Given the description of an element on the screen output the (x, y) to click on. 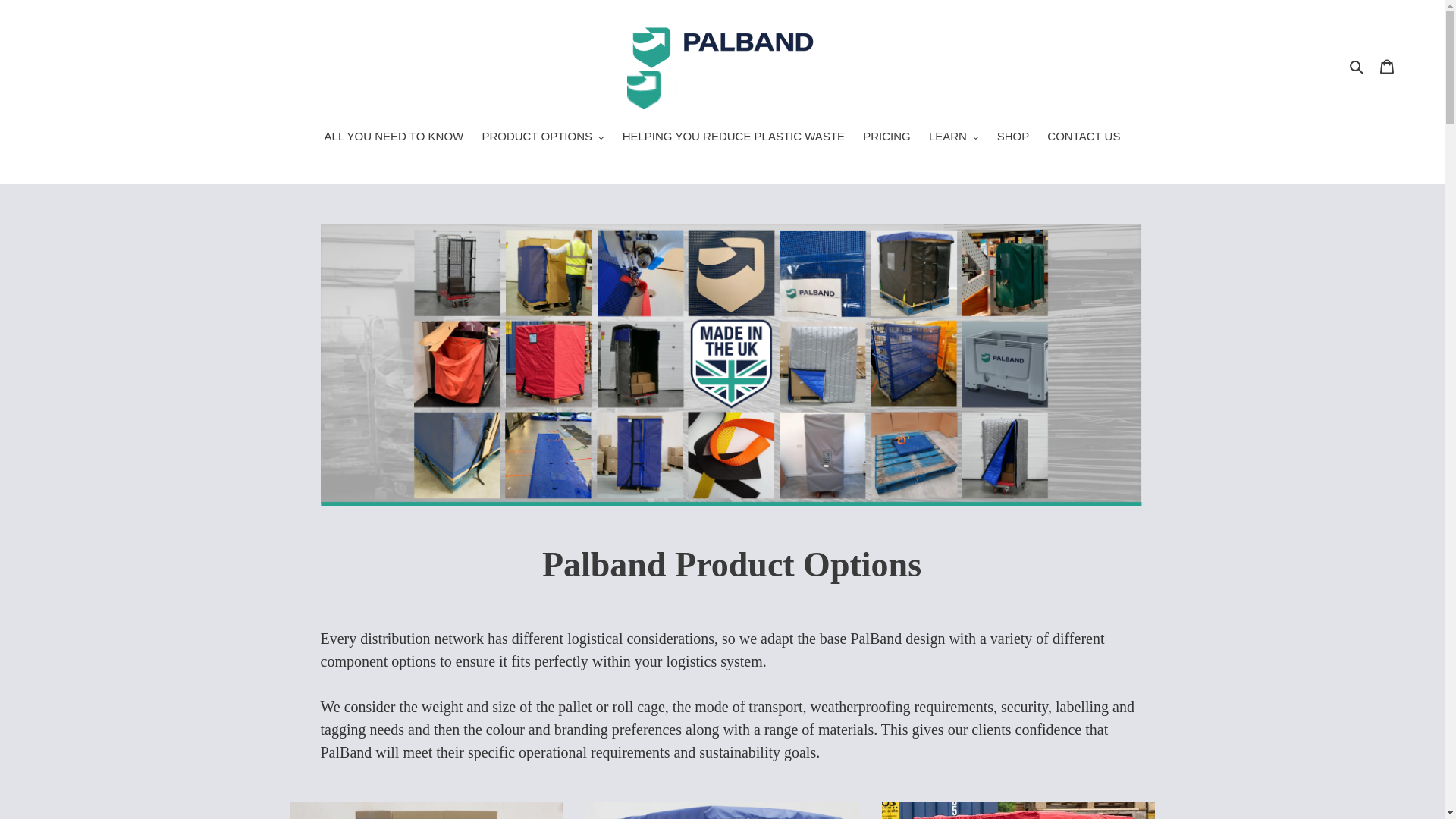
Search (1357, 66)
Cart (1387, 65)
HELPING YOU REDUCE PLASTIC WASTE (732, 137)
PRODUCT OPTIONS (542, 137)
PRICING (887, 137)
ALL YOU NEED TO KNOW (394, 137)
